Given the description of an element on the screen output the (x, y) to click on. 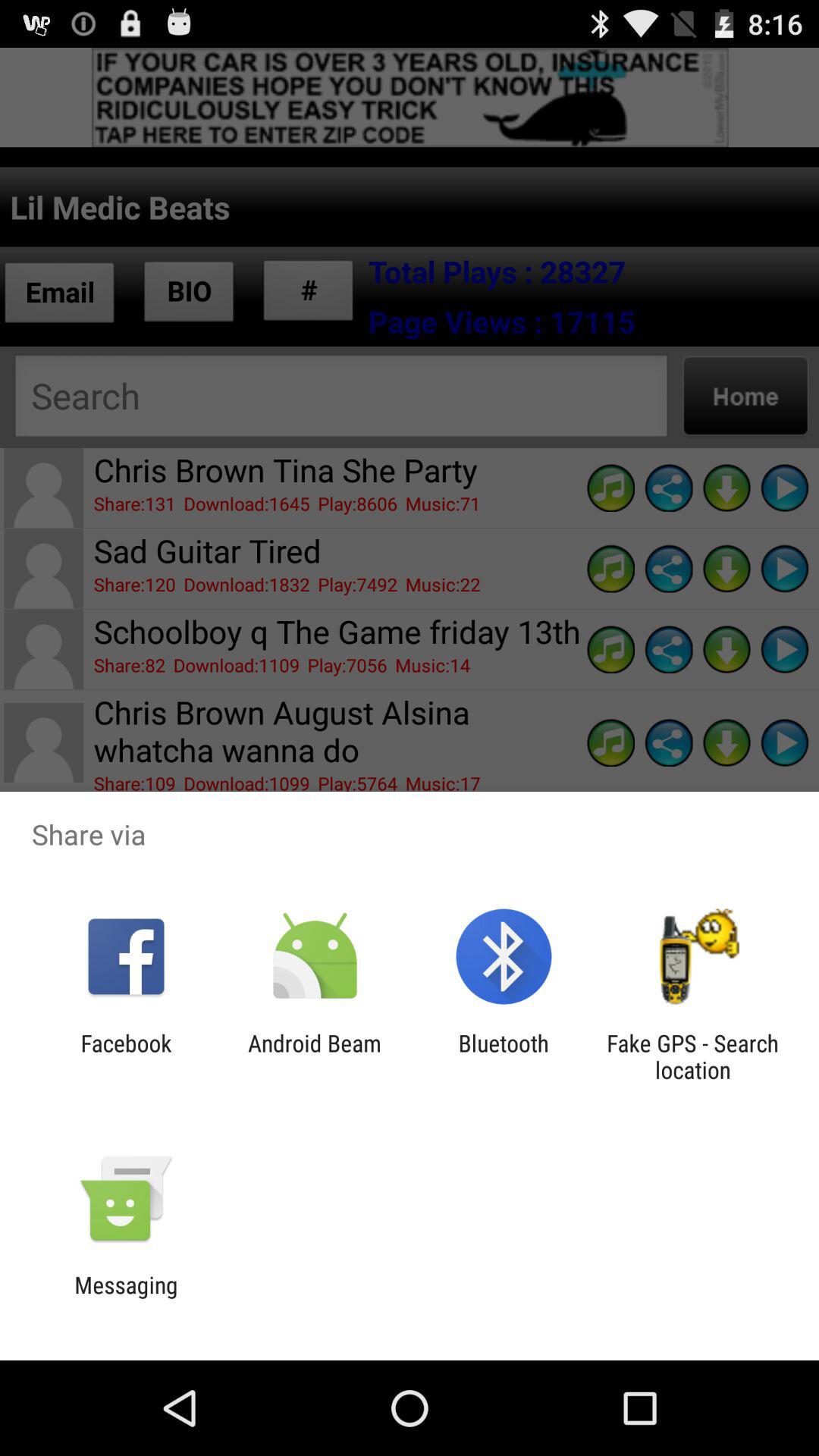
flip to the bluetooth icon (503, 1056)
